Given the description of an element on the screen output the (x, y) to click on. 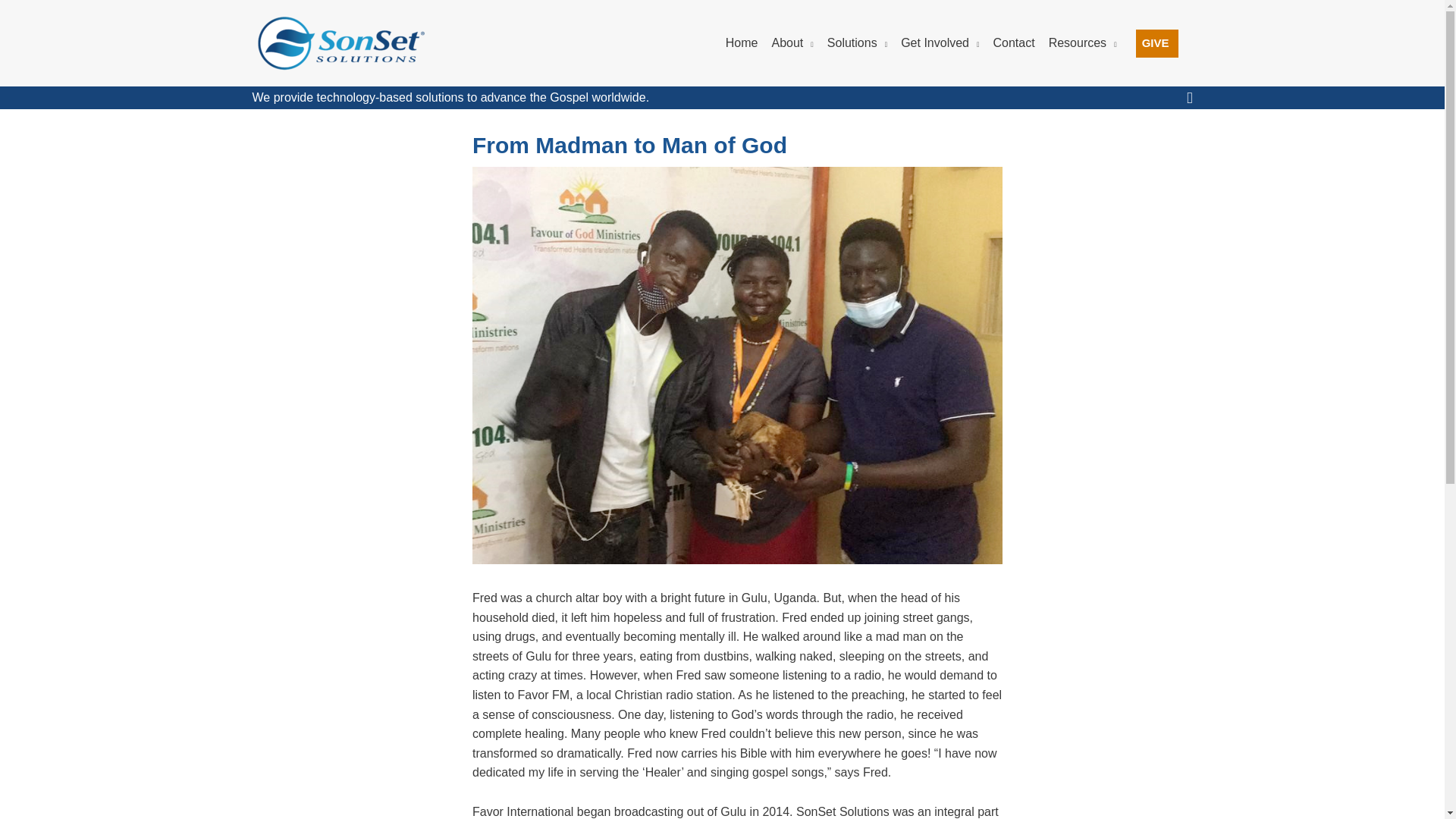
Resources (1083, 43)
Get Involved (941, 43)
About (793, 43)
Contact (1014, 43)
GIVE (1156, 42)
Solutions (858, 43)
